Given the description of an element on the screen output the (x, y) to click on. 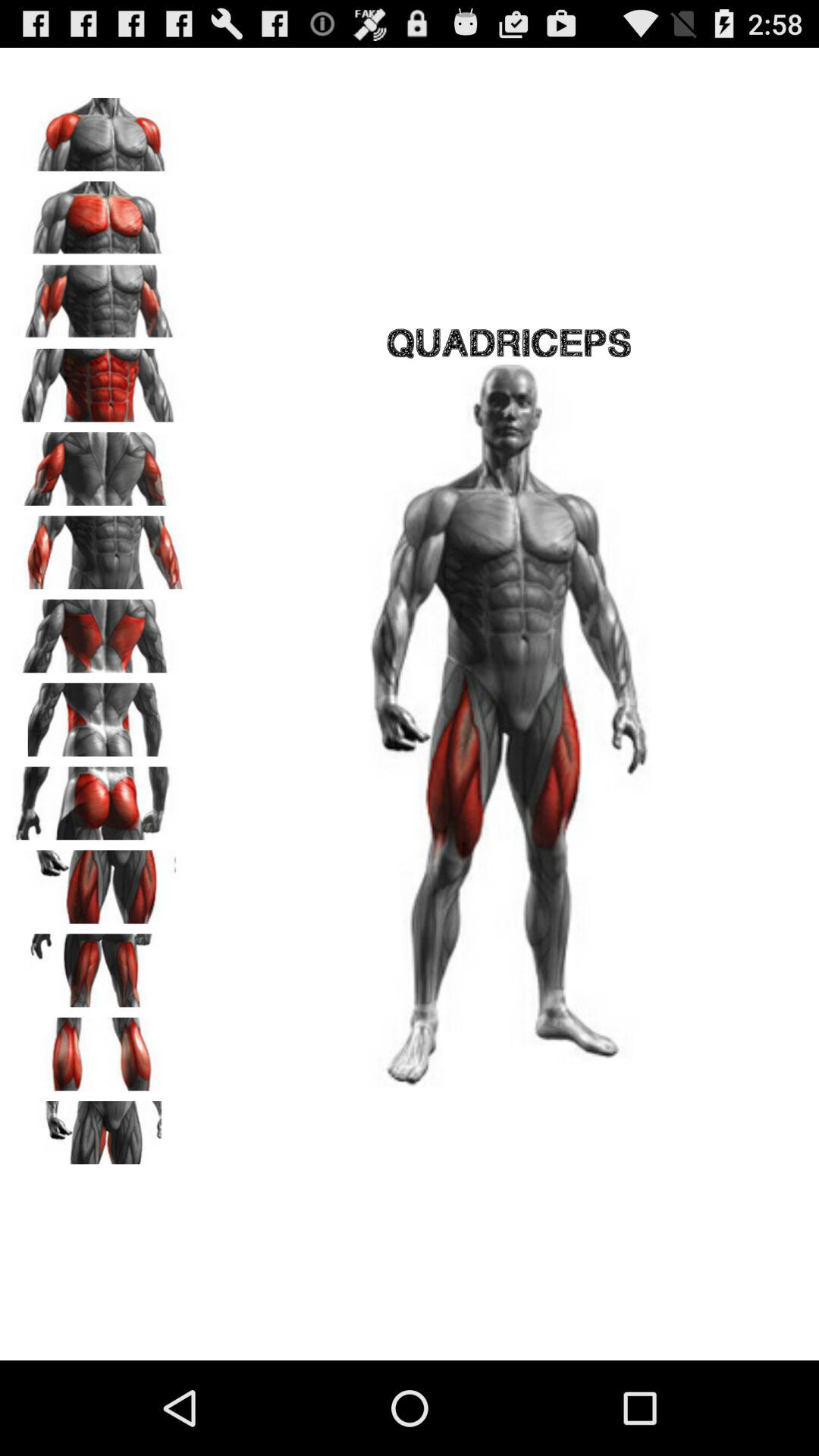
front side of the body (99, 129)
